Given the description of an element on the screen output the (x, y) to click on. 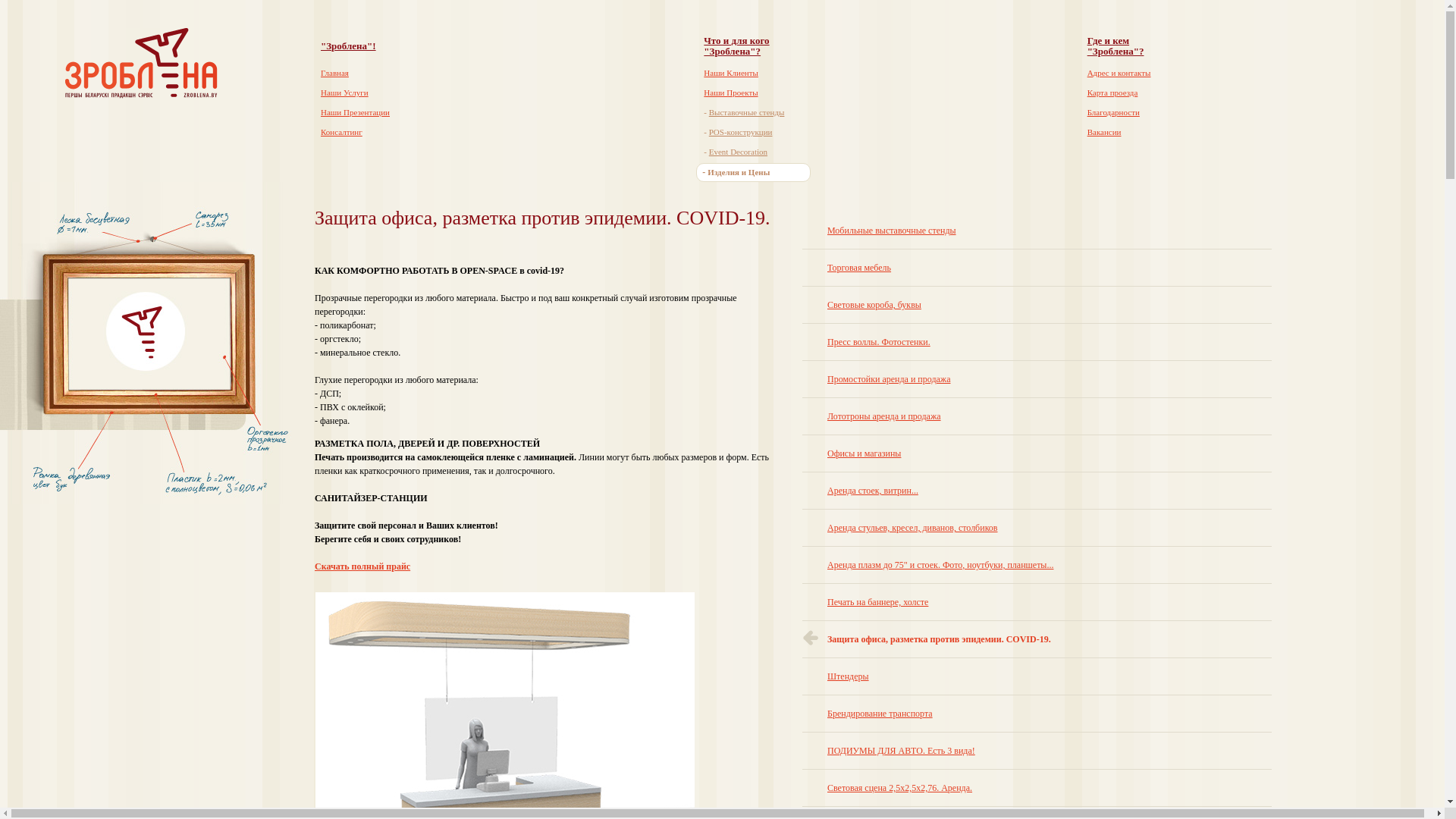
Event Decoration Element type: text (738, 151)
